Given the description of an element on the screen output the (x, y) to click on. 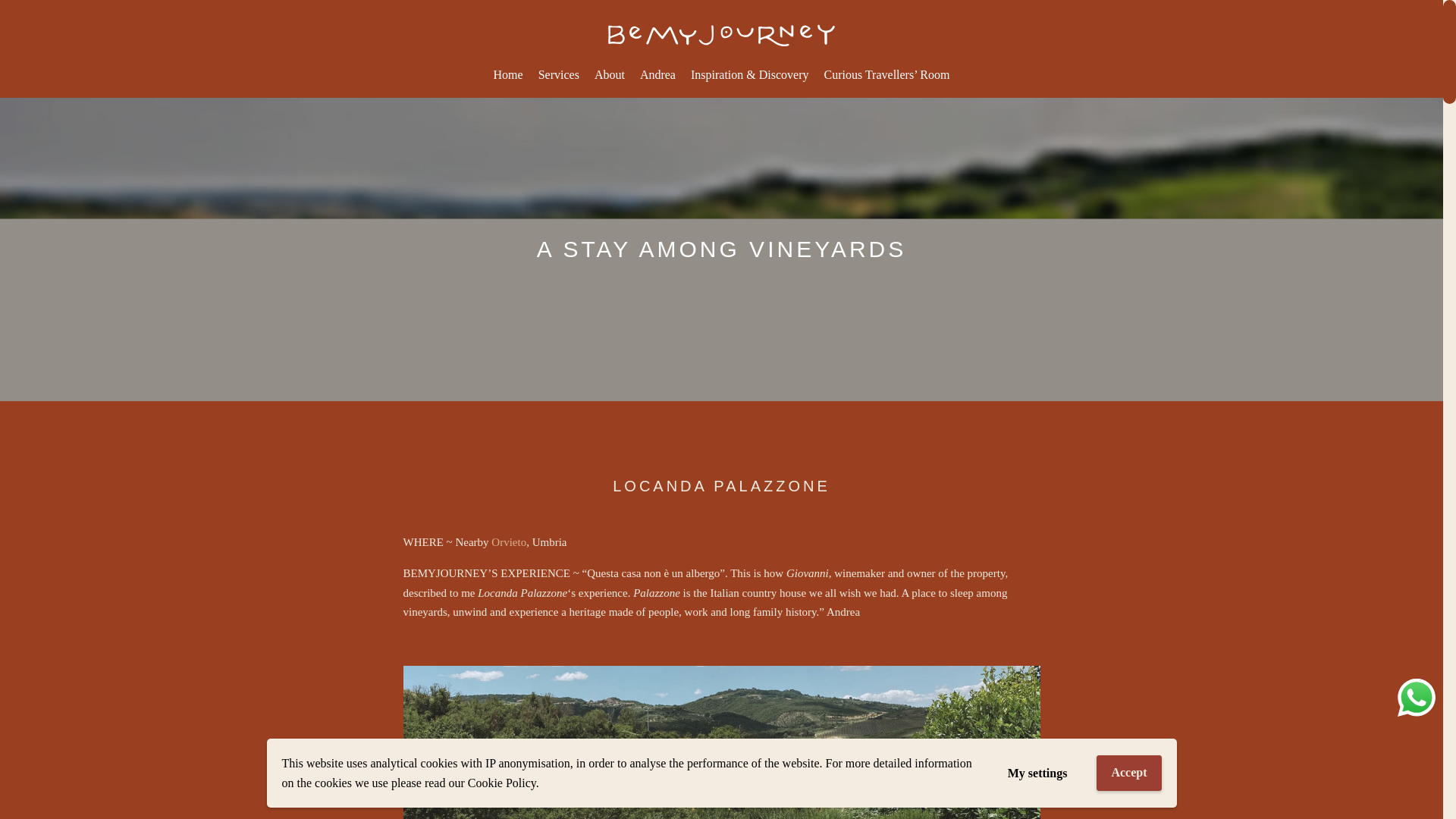
About (608, 74)
Home (508, 74)
My settings (1036, 772)
Andrea (656, 74)
Services (558, 74)
Orvieto (508, 543)
Accept (1128, 773)
